Given the description of an element on the screen output the (x, y) to click on. 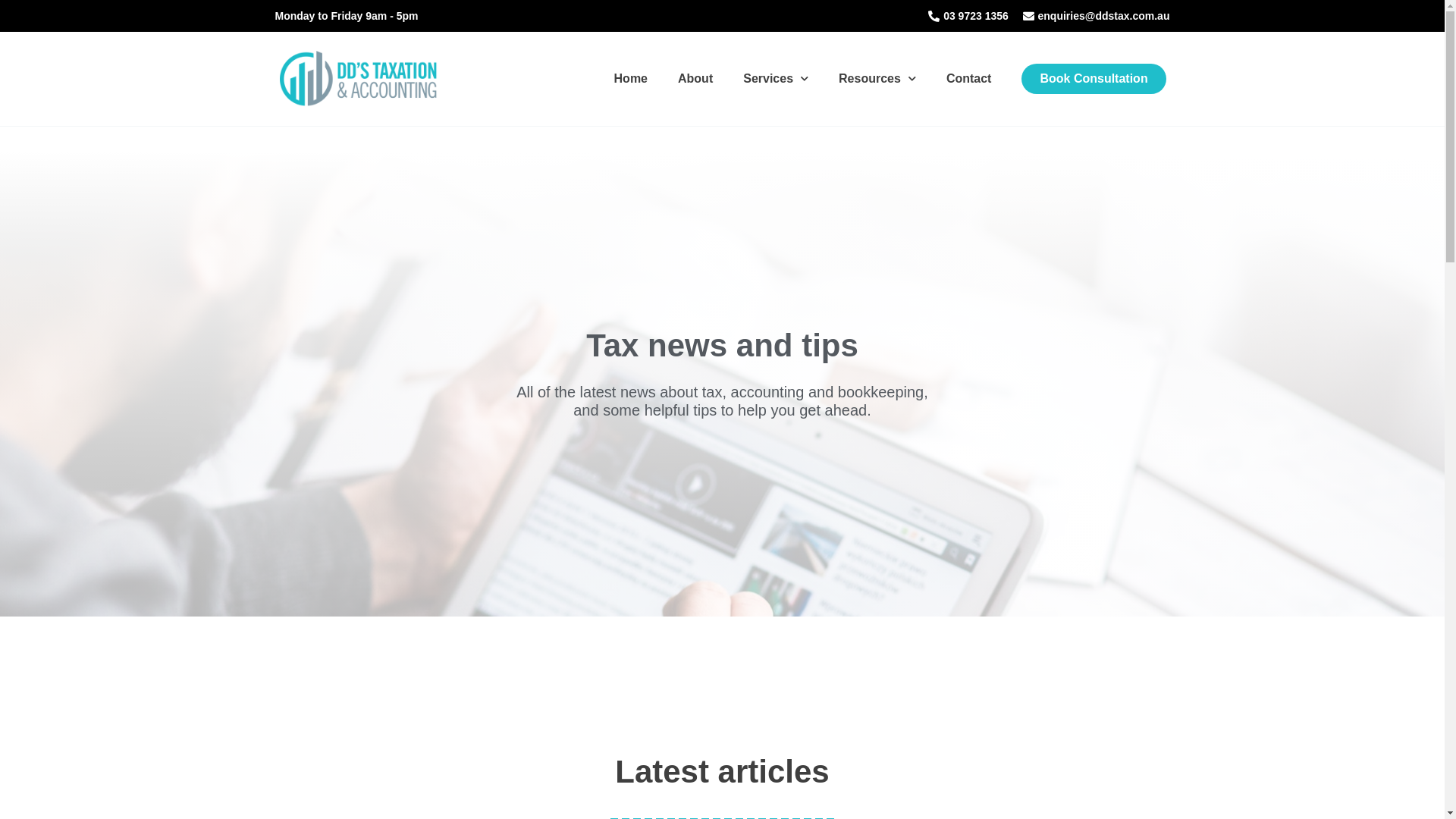
Book Consultation Element type: text (1093, 78)
Home Element type: text (630, 78)
Services Element type: text (775, 78)
About Element type: text (695, 78)
Contact Element type: text (969, 78)
enquiries@ddstax.com.au Element type: text (1094, 15)
03 9723 1356 Element type: text (966, 15)
Resources Element type: text (877, 78)
